Given the description of an element on the screen output the (x, y) to click on. 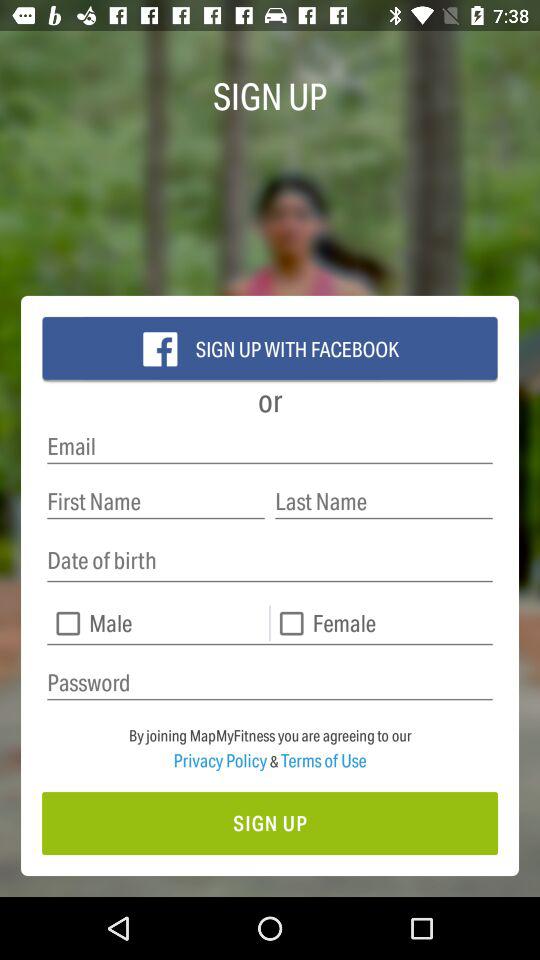
enter first name (156, 501)
